Given the description of an element on the screen output the (x, y) to click on. 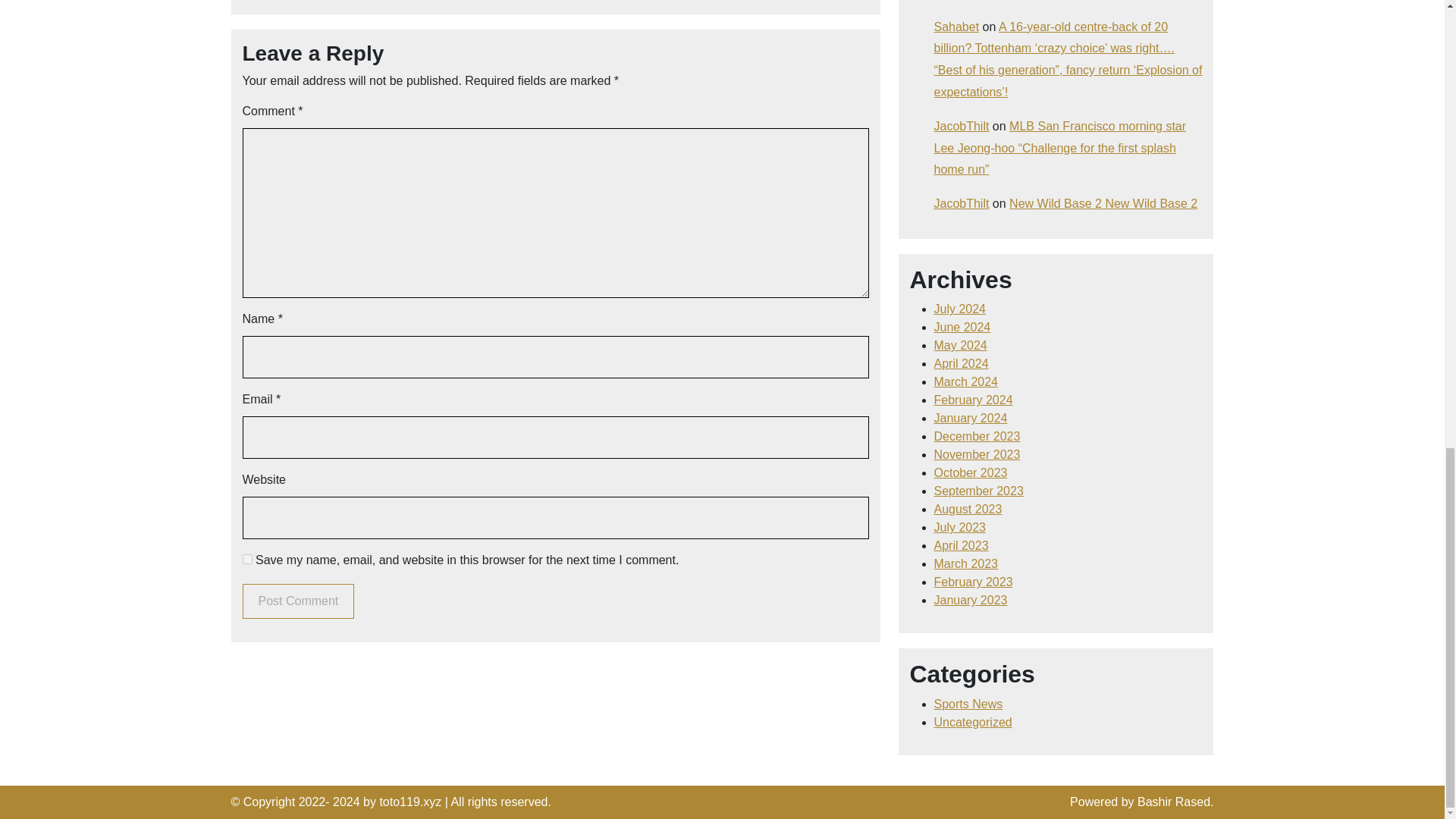
May 2024 (960, 345)
July 2023 (960, 526)
March 2024 (966, 381)
JacobThilt (962, 203)
Post Comment (299, 601)
Sahabet (956, 26)
November 2023 (977, 454)
July 2024 (960, 308)
Post Comment (299, 601)
January 2024 (970, 418)
June 2024 (962, 327)
JacobThilt (962, 125)
September 2023 (978, 490)
October 2023 (970, 472)
August 2023 (968, 508)
